Given the description of an element on the screen output the (x, y) to click on. 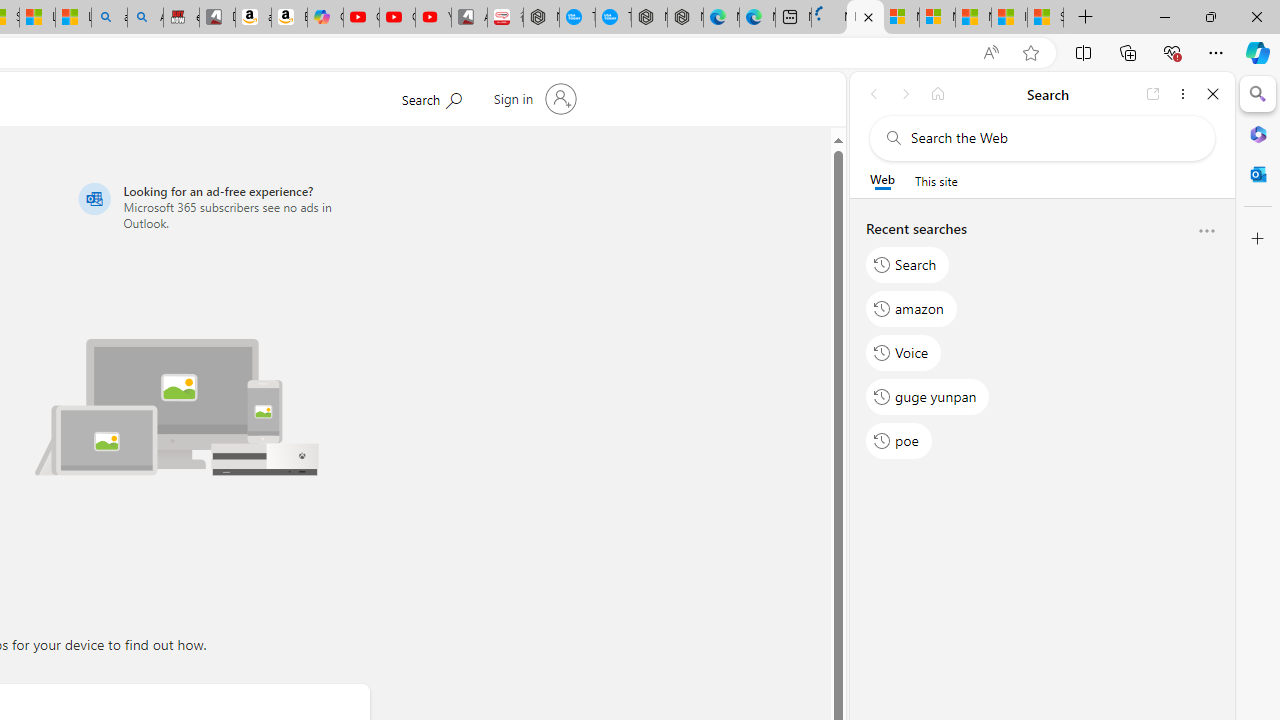
Search the web (1051, 137)
Nordace - My Account (541, 17)
Gloom - YouTube (397, 17)
Voice (904, 352)
